Given the description of an element on the screen output the (x, y) to click on. 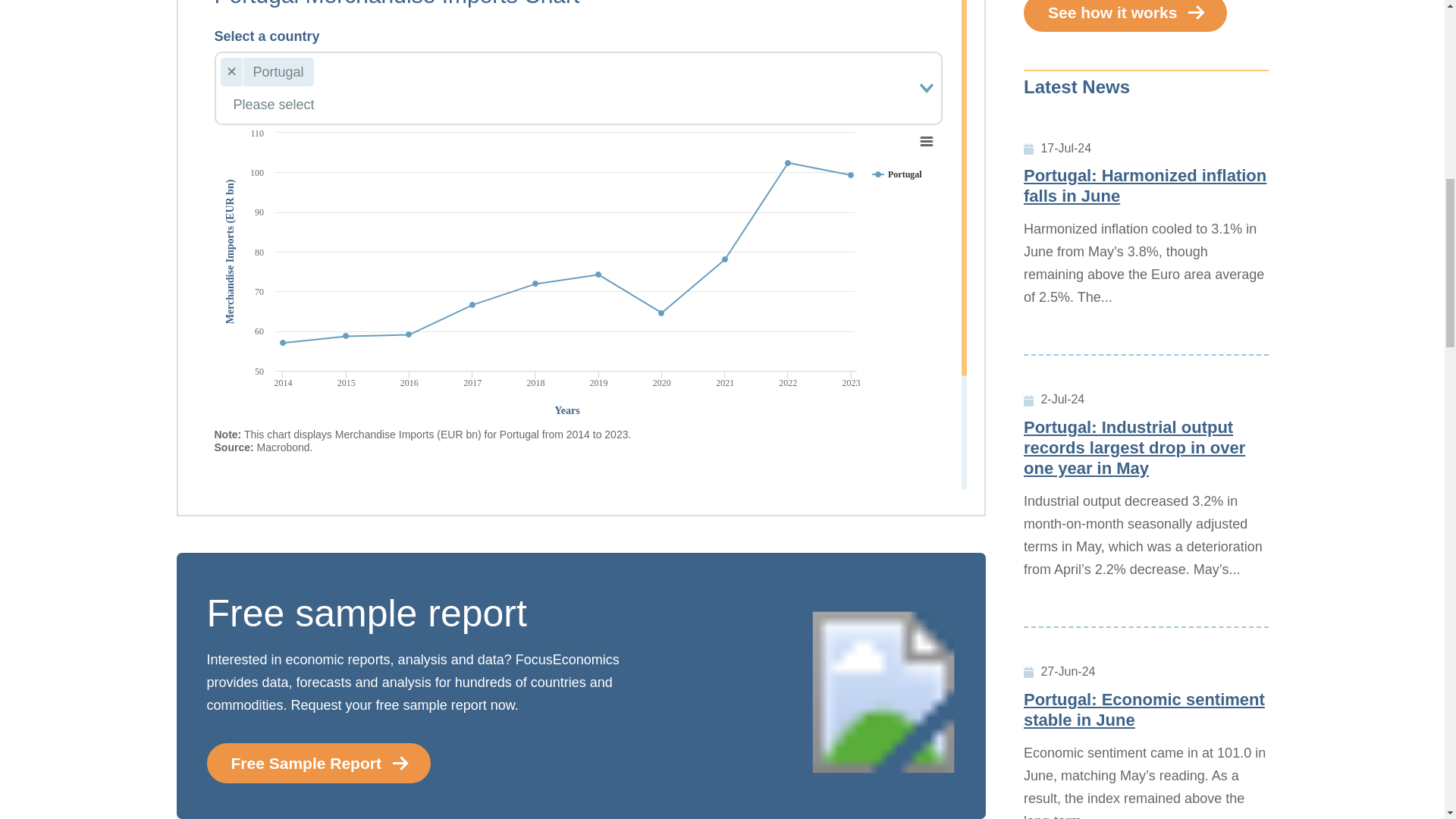
Please select (565, 105)
Please select (565, 105)
